Given the description of an element on the screen output the (x, y) to click on. 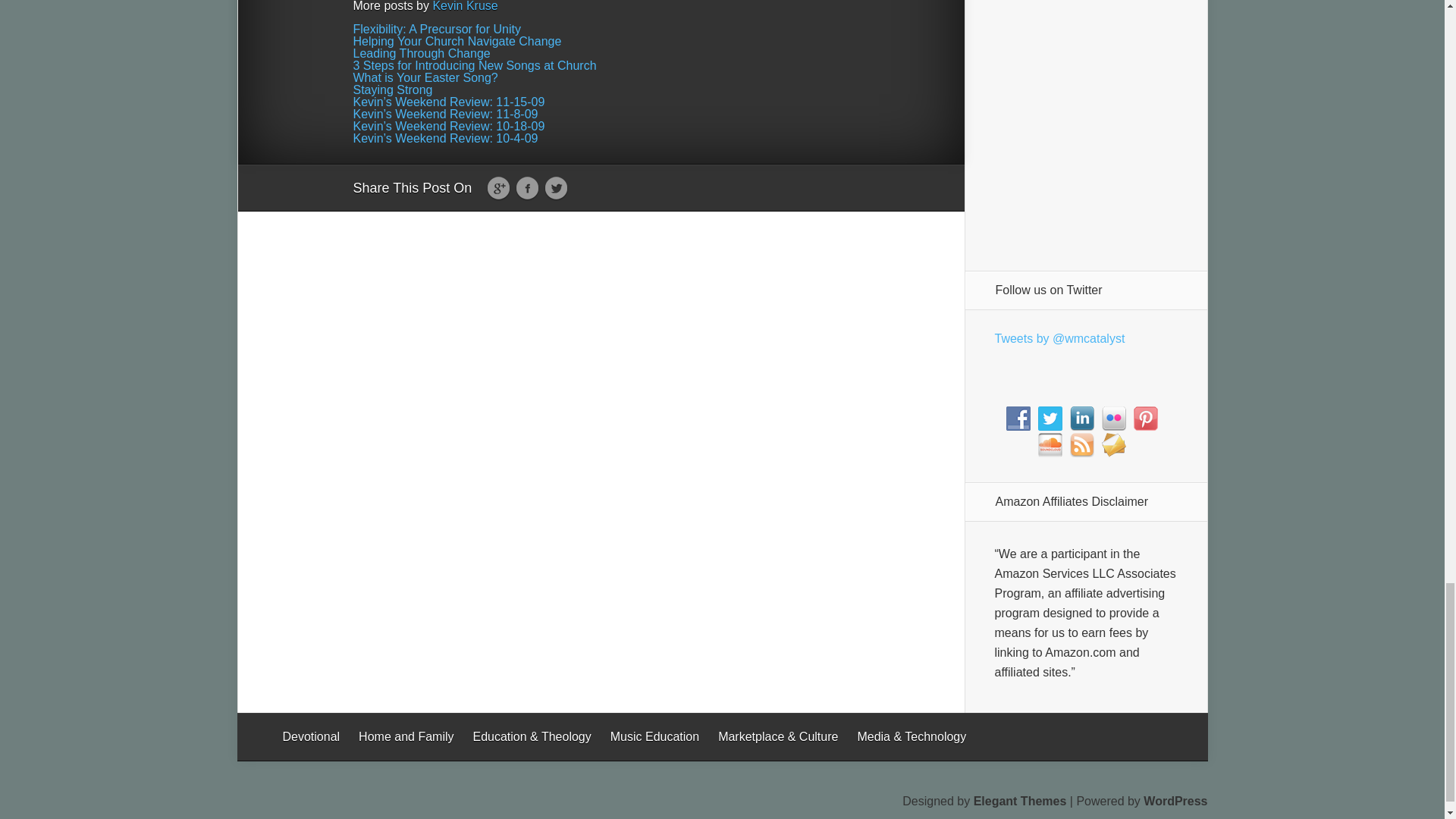
Follow Us on Facebook (1017, 418)
Follow Us on LinkedIn (1080, 418)
Follow Us on Twitter (1048, 418)
